Given the description of an element on the screen output the (x, y) to click on. 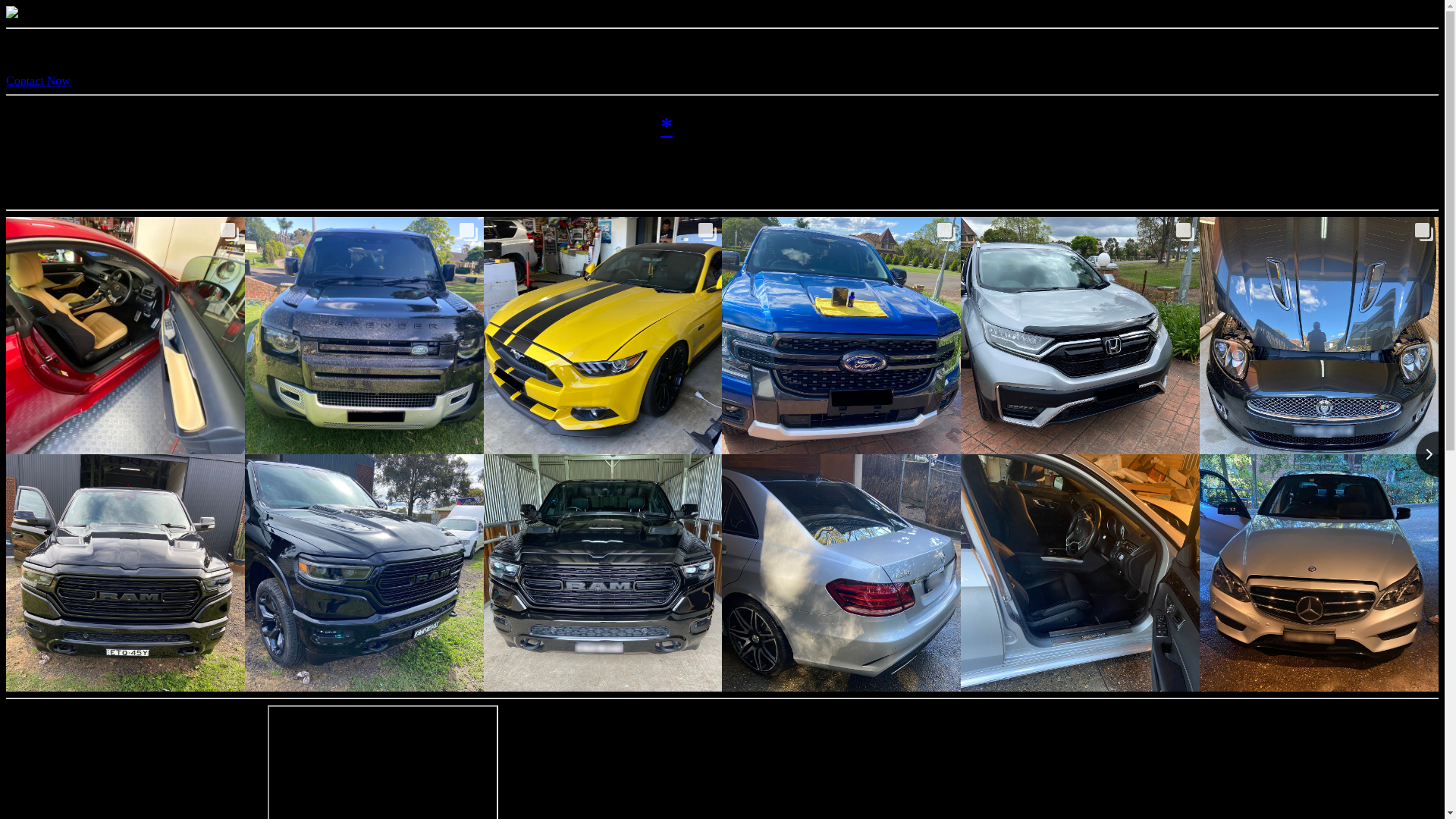
Contact Now Element type: text (38, 80)
* Element type: text (666, 125)
